Given the description of an element on the screen output the (x, y) to click on. 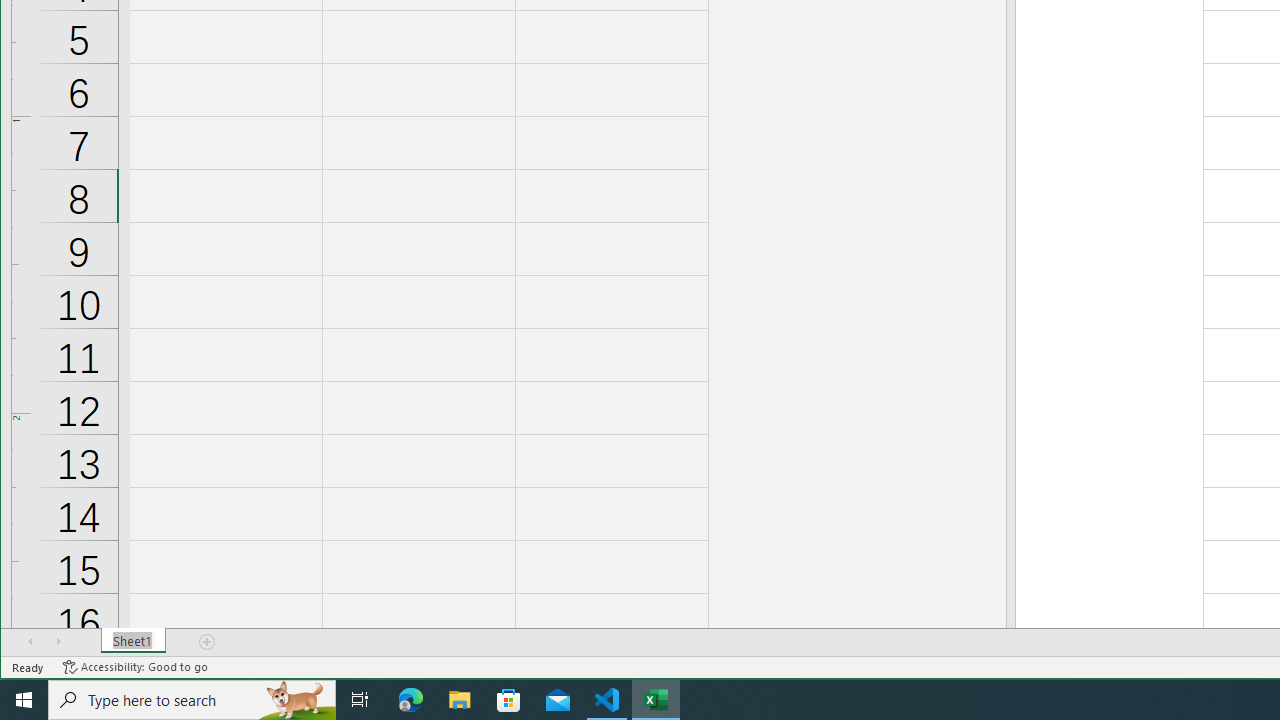
Sheet Tab (133, 641)
File Explorer (460, 699)
Microsoft Store (509, 699)
Visual Studio Code - 1 running window (607, 699)
Task View (359, 699)
Search highlights icon opens search home window (295, 699)
Type here to search (191, 699)
Excel - 1 running window (656, 699)
Microsoft Edge (411, 699)
